Given the description of an element on the screen output the (x, y) to click on. 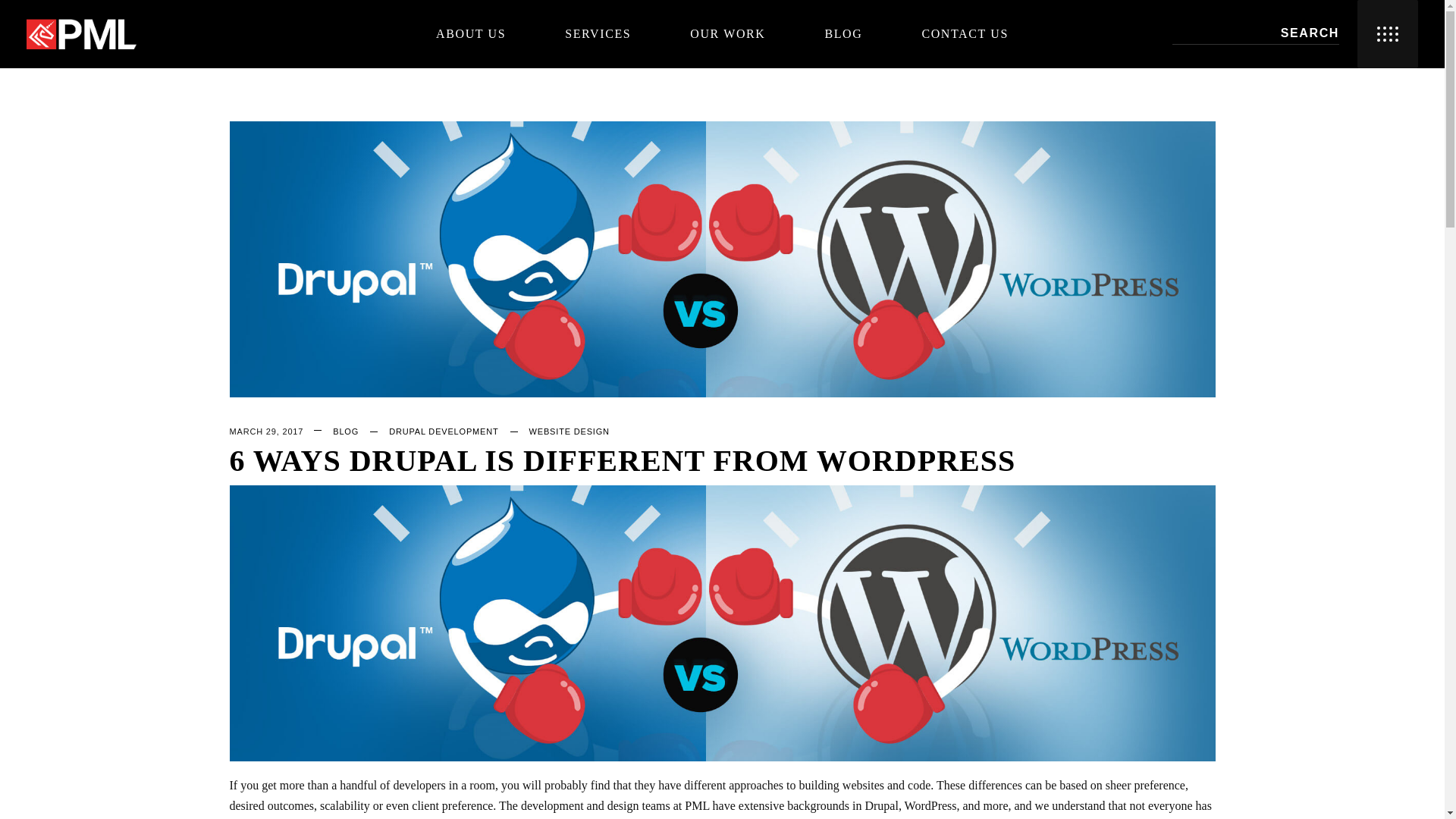
BLOG (842, 33)
OUR WORK (727, 33)
SERVICES (597, 33)
CONTACT US (964, 33)
ABOUT US (470, 33)
